Given the description of an element on the screen output the (x, y) to click on. 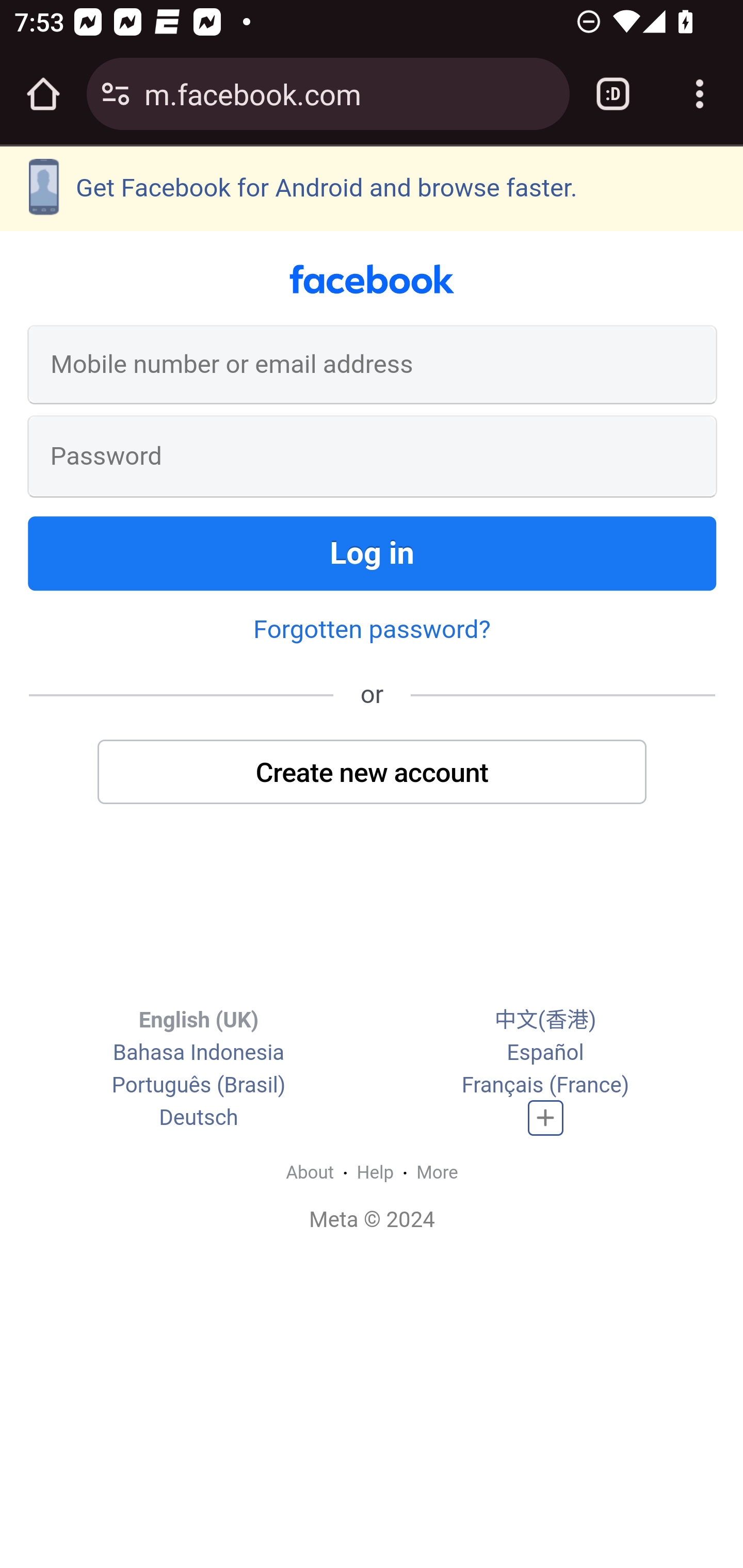
Open the home page (43, 93)
Connection is secure (115, 93)
Switch or close tabs (612, 93)
Customize and control Google Chrome (699, 93)
m.facebook.com (349, 92)
Get Facebook for Android and browse faster. (371, 188)
facebook (372, 279)
Log in (372, 552)
Forgotten password? (371, 628)
Create new account (372, 771)
中文(香港) (544, 1020)
Bahasa Indonesia (198, 1052)
Español (545, 1052)
Português (Brasil) (197, 1085)
Français (France) (544, 1085)
Complete list of languages (545, 1117)
Deutsch (198, 1118)
About (310, 1171)
Help (375, 1171)
